Given the description of an element on the screen output the (x, y) to click on. 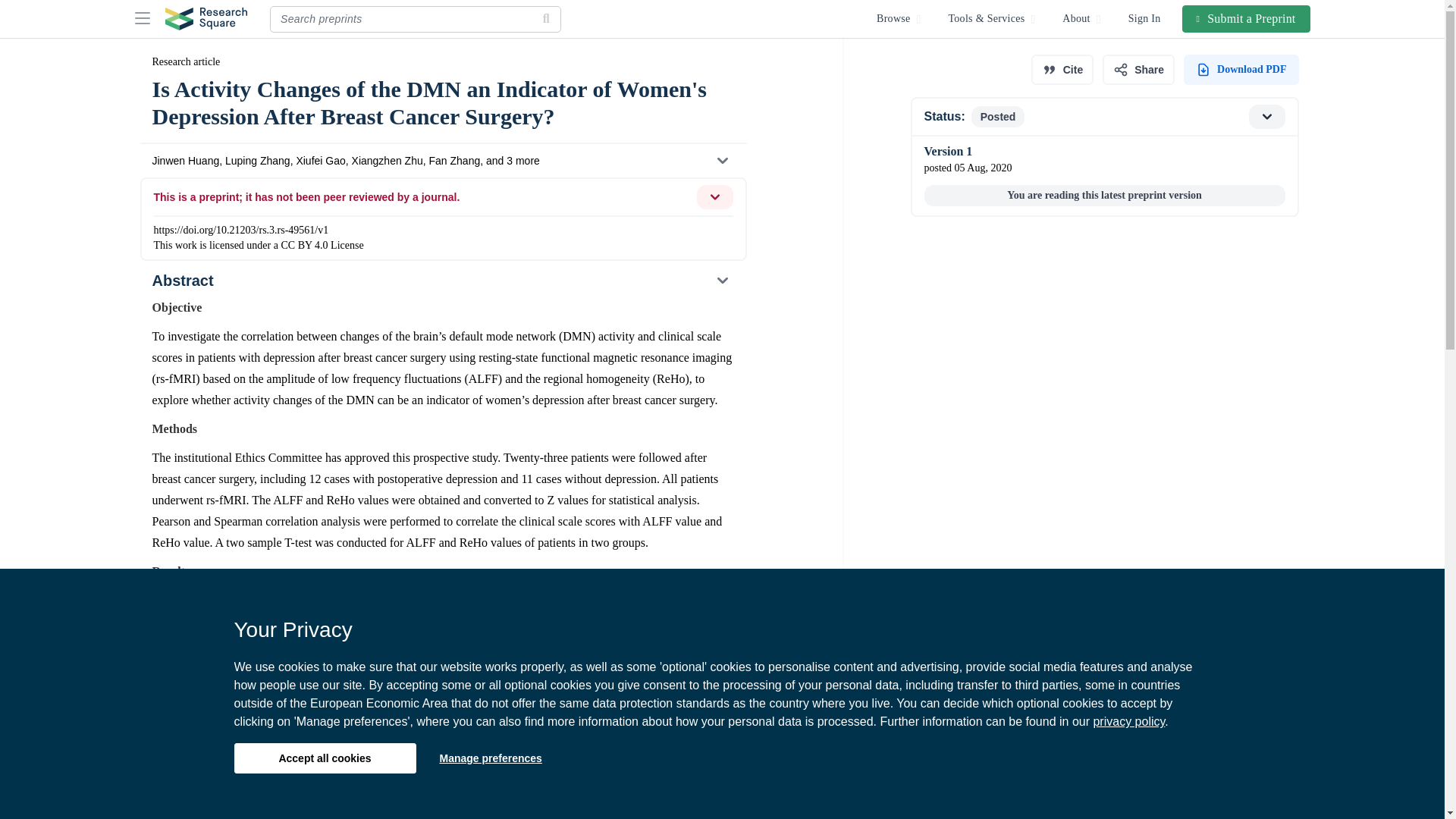
Sign In (1144, 18)
Submit a Preprint (1246, 18)
Manage preferences (490, 757)
privacy policy (1128, 721)
Accept all cookies (323, 757)
Abstract (442, 280)
